Given the description of an element on the screen output the (x, y) to click on. 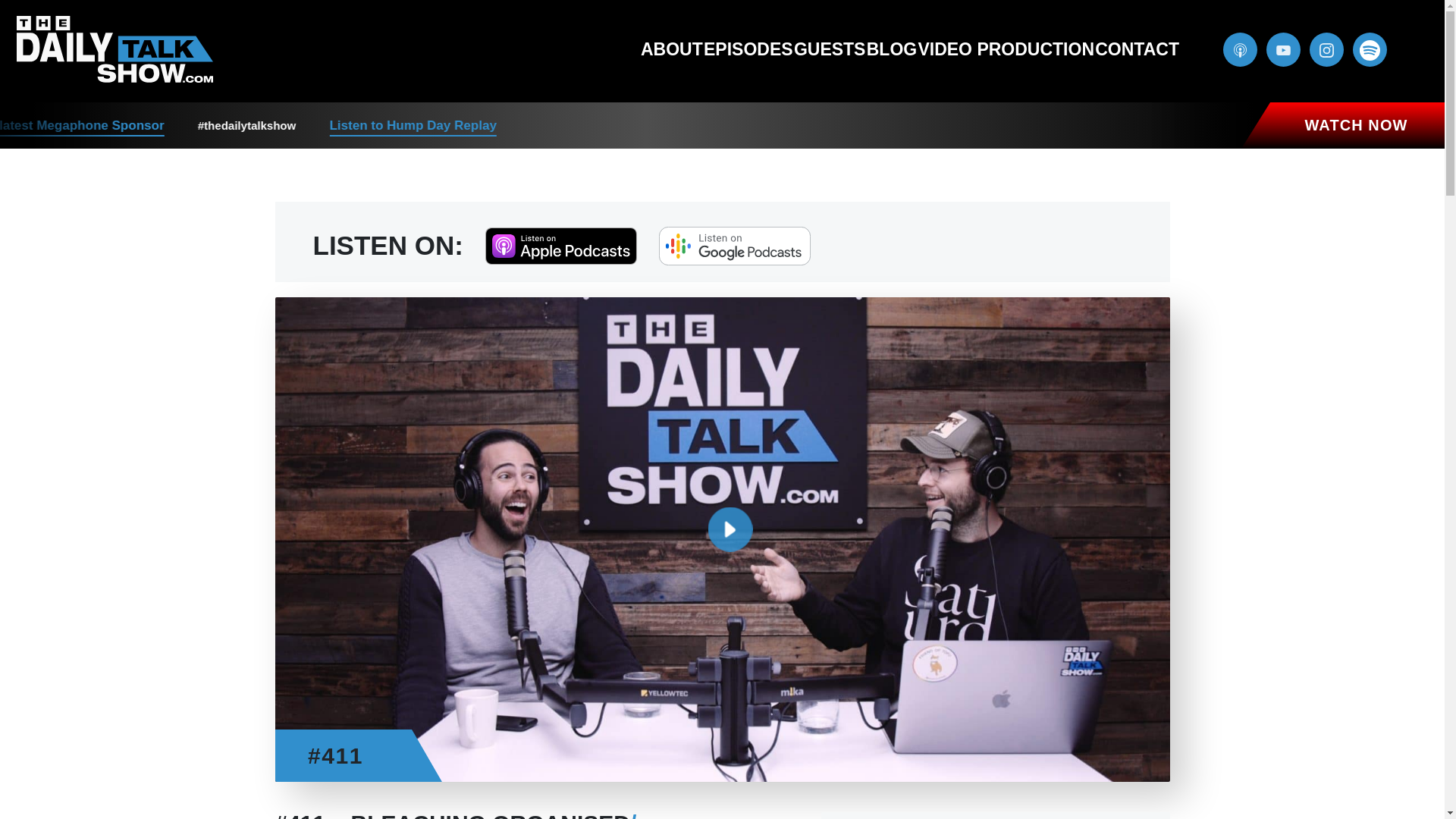
ABOUT (671, 48)
CONTACT (1136, 48)
BLOG (891, 48)
EPISODES (748, 48)
Listen to Hump Day Replay (467, 125)
VIDEO PRODUCTION (1005, 48)
See our latest Megaphone Sponsor (111, 125)
GUESTS (829, 48)
